Given the description of an element on the screen output the (x, y) to click on. 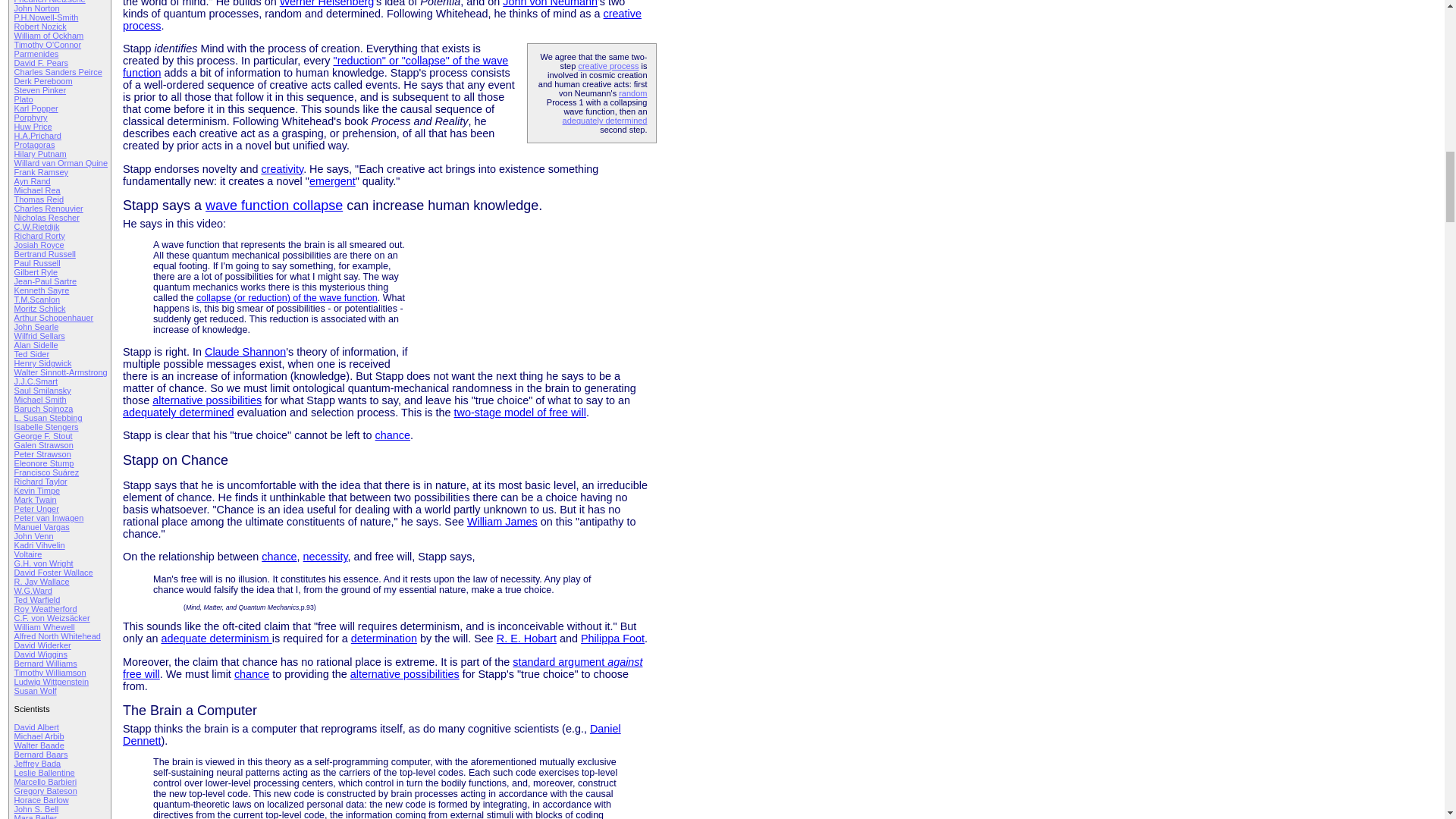
YouTube video player (530, 291)
